Given the description of an element on the screen output the (x, y) to click on. 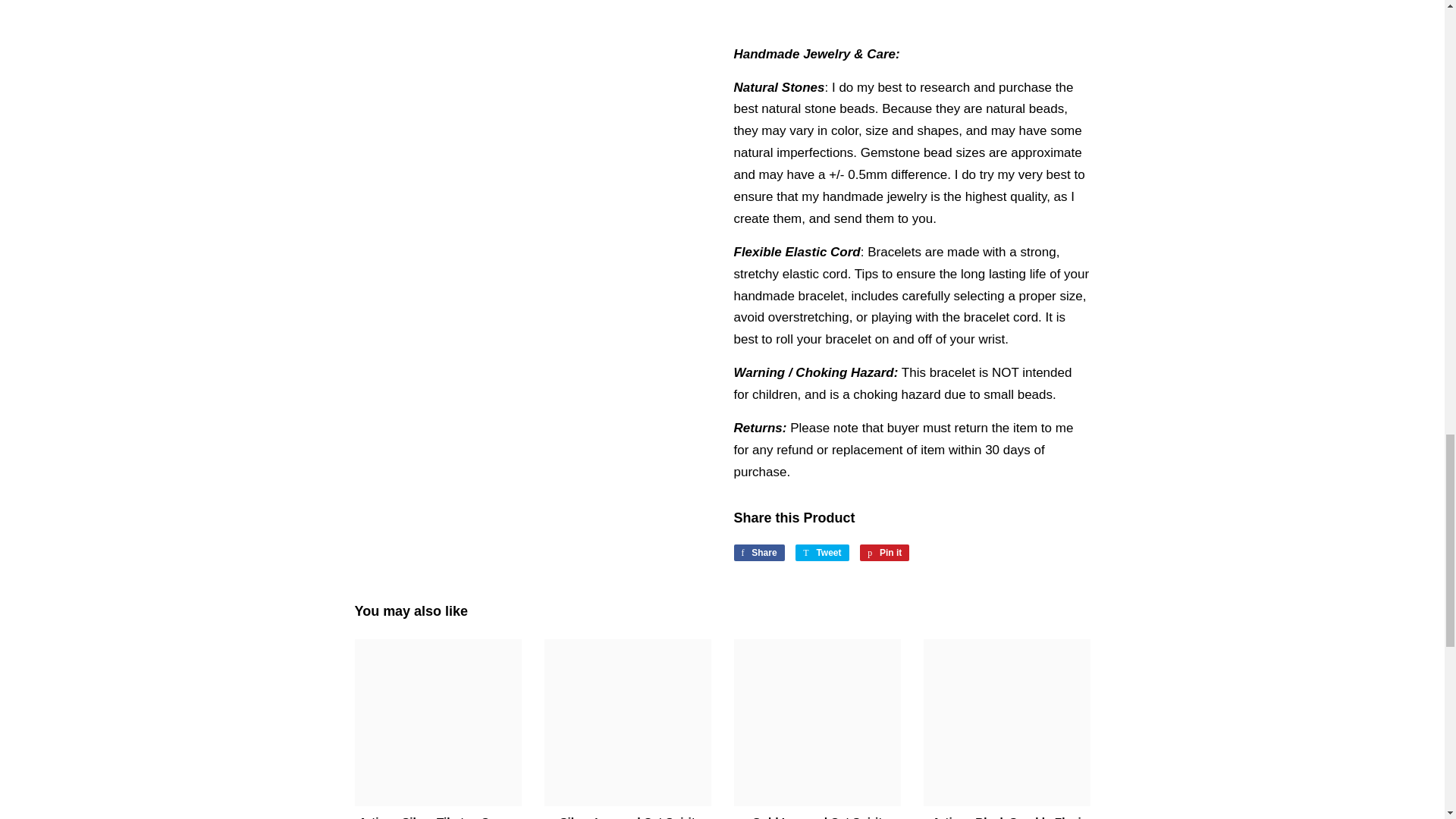
Tweet on Twitter (821, 552)
Pin on Pinterest (884, 552)
Share on Facebook (758, 552)
